Given the description of an element on the screen output the (x, y) to click on. 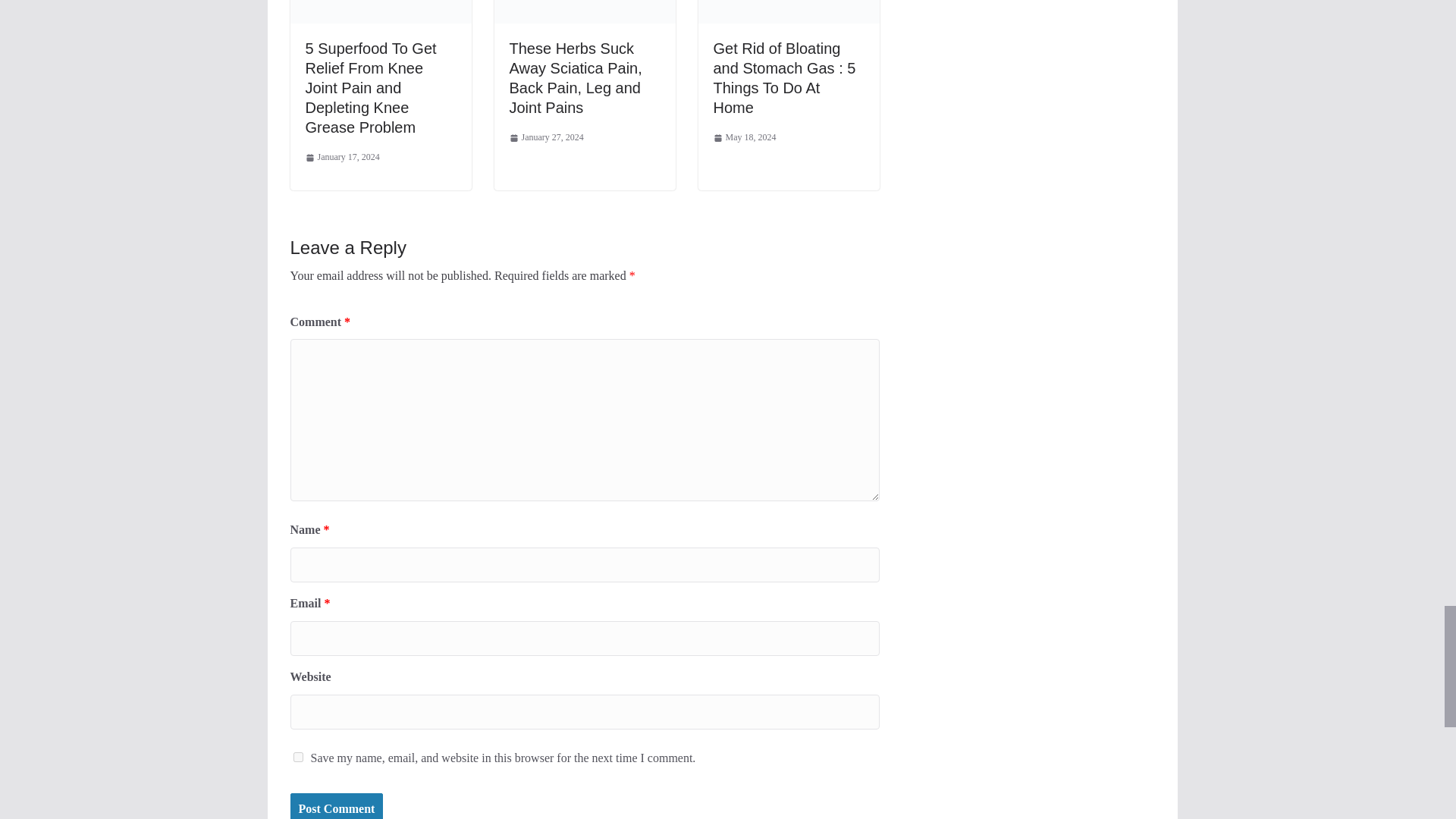
yes (297, 757)
Post Comment (335, 806)
